Given the description of an element on the screen output the (x, y) to click on. 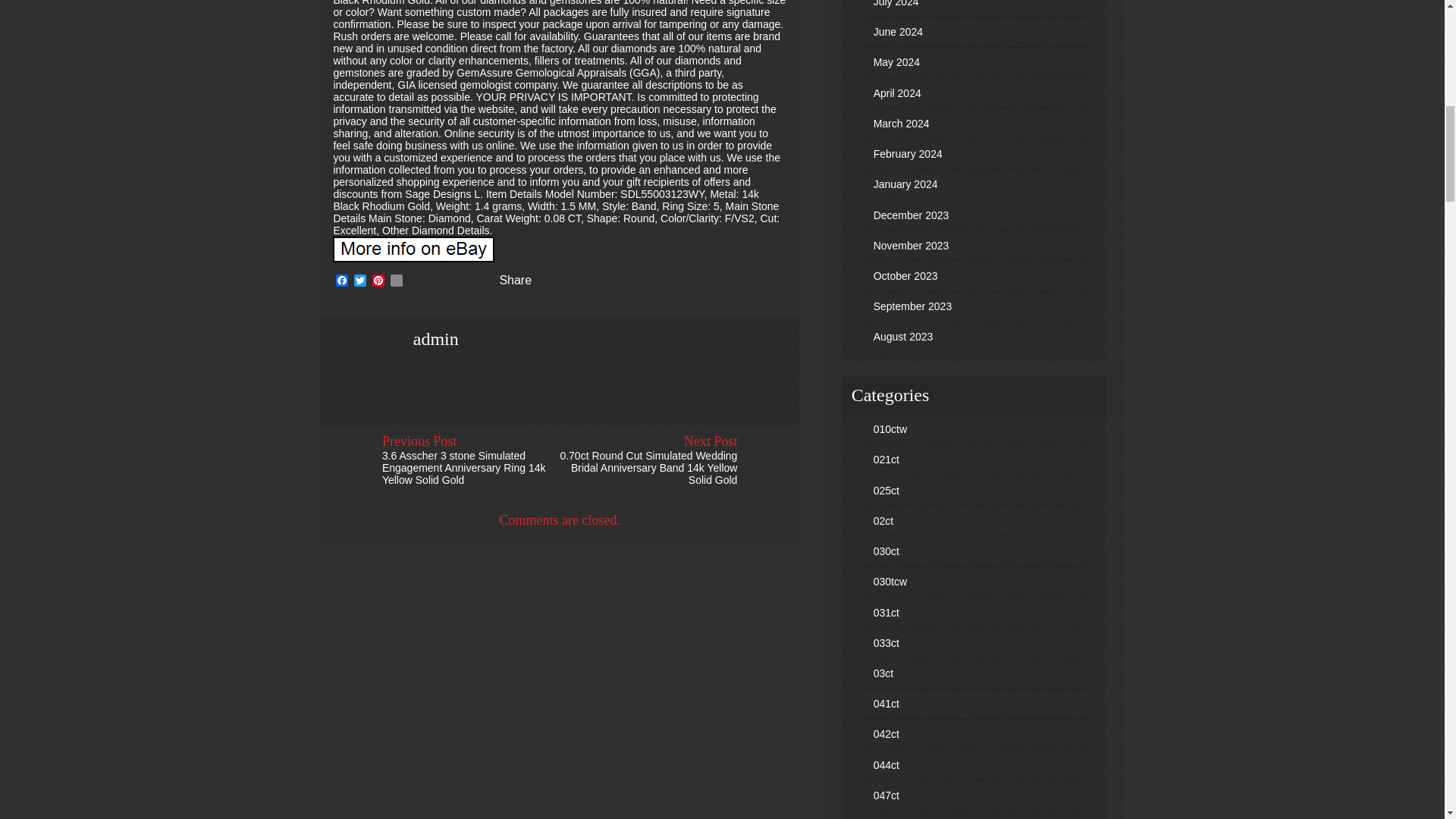
Email (396, 280)
March 2024 (901, 123)
Facebook (341, 280)
Pinterest (378, 280)
January 2024 (905, 184)
Share (505, 280)
Facebook (341, 280)
April 2024 (897, 92)
February 2024 (907, 153)
